Given the description of an element on the screen output the (x, y) to click on. 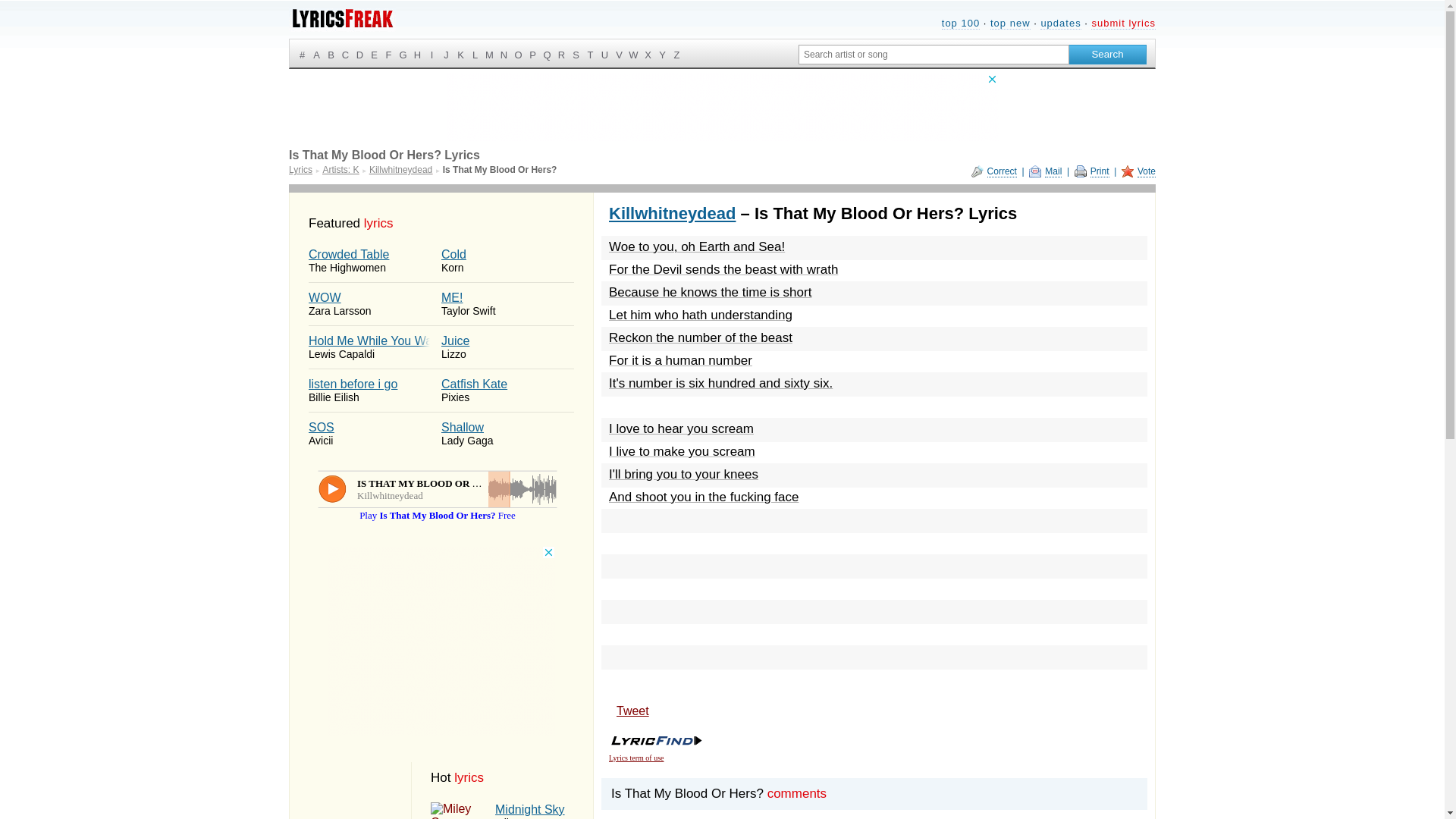
ME! lyrics (507, 303)
Catfish Kate lyrics (507, 390)
Shallow lyrics (511, 810)
Lyrics (507, 433)
Killwhitneydead (342, 19)
Vote (400, 169)
3rd party ad content (374, 303)
